Given the description of an element on the screen output the (x, y) to click on. 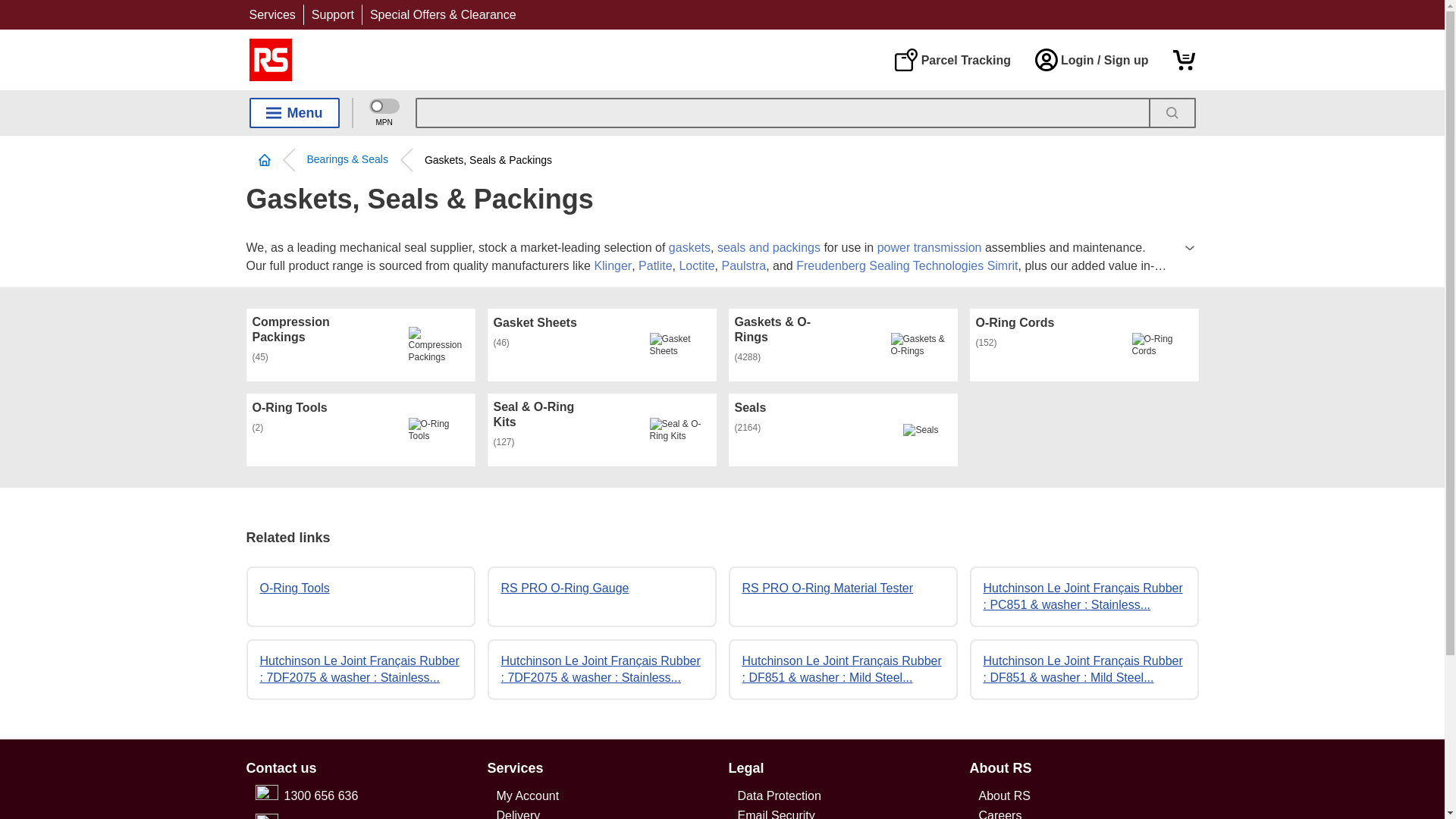
Services (271, 14)
Parcel Tracking (951, 59)
Support (332, 14)
Menu (293, 112)
